Given the description of an element on the screen output the (x, y) to click on. 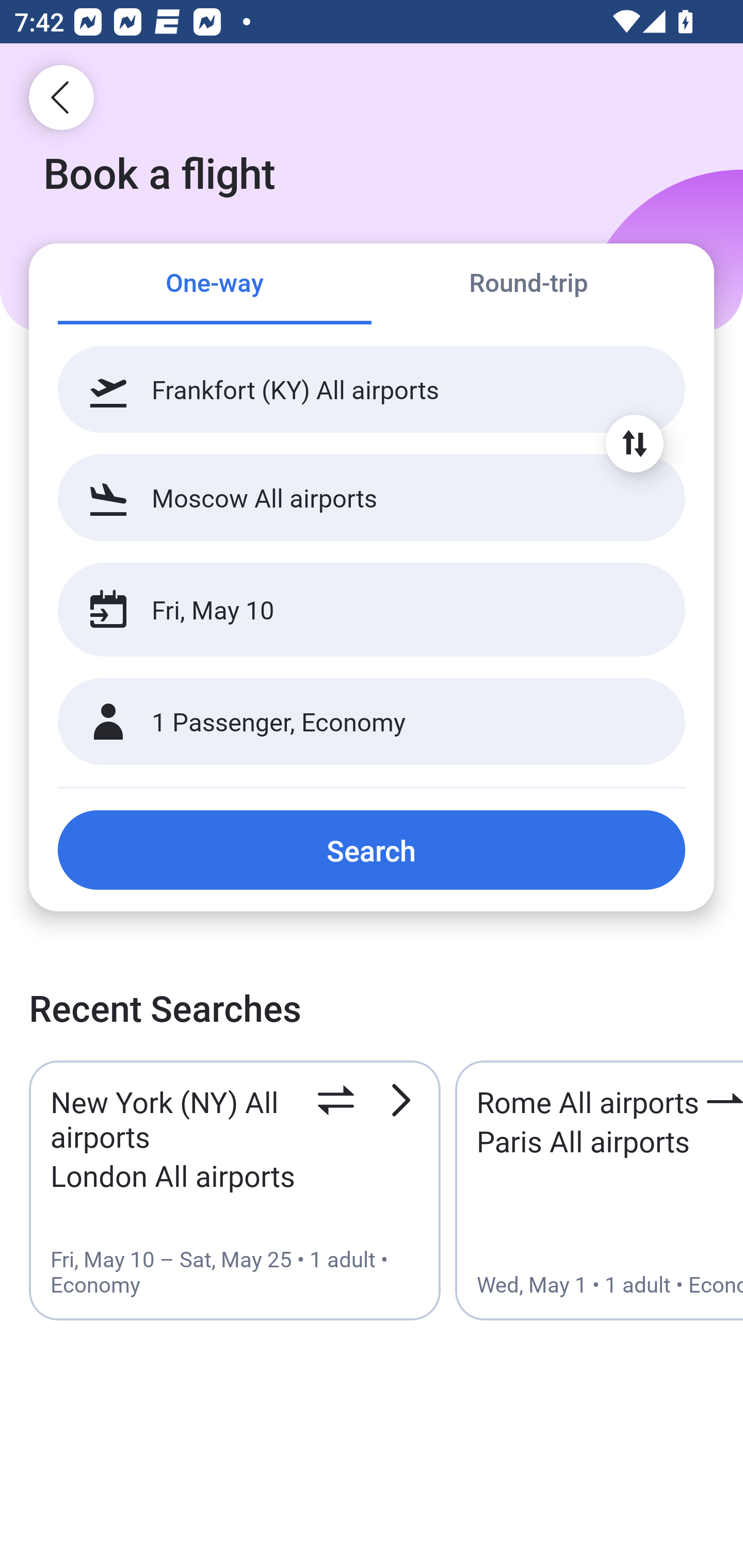
Round-trip (528, 284)
Frankfort (KY) All airports (371, 389)
Moscow All airports (371, 497)
Fri, May 10 (349, 609)
1 Passenger, Economy (371, 721)
Search (371, 849)
